Given the description of an element on the screen output the (x, y) to click on. 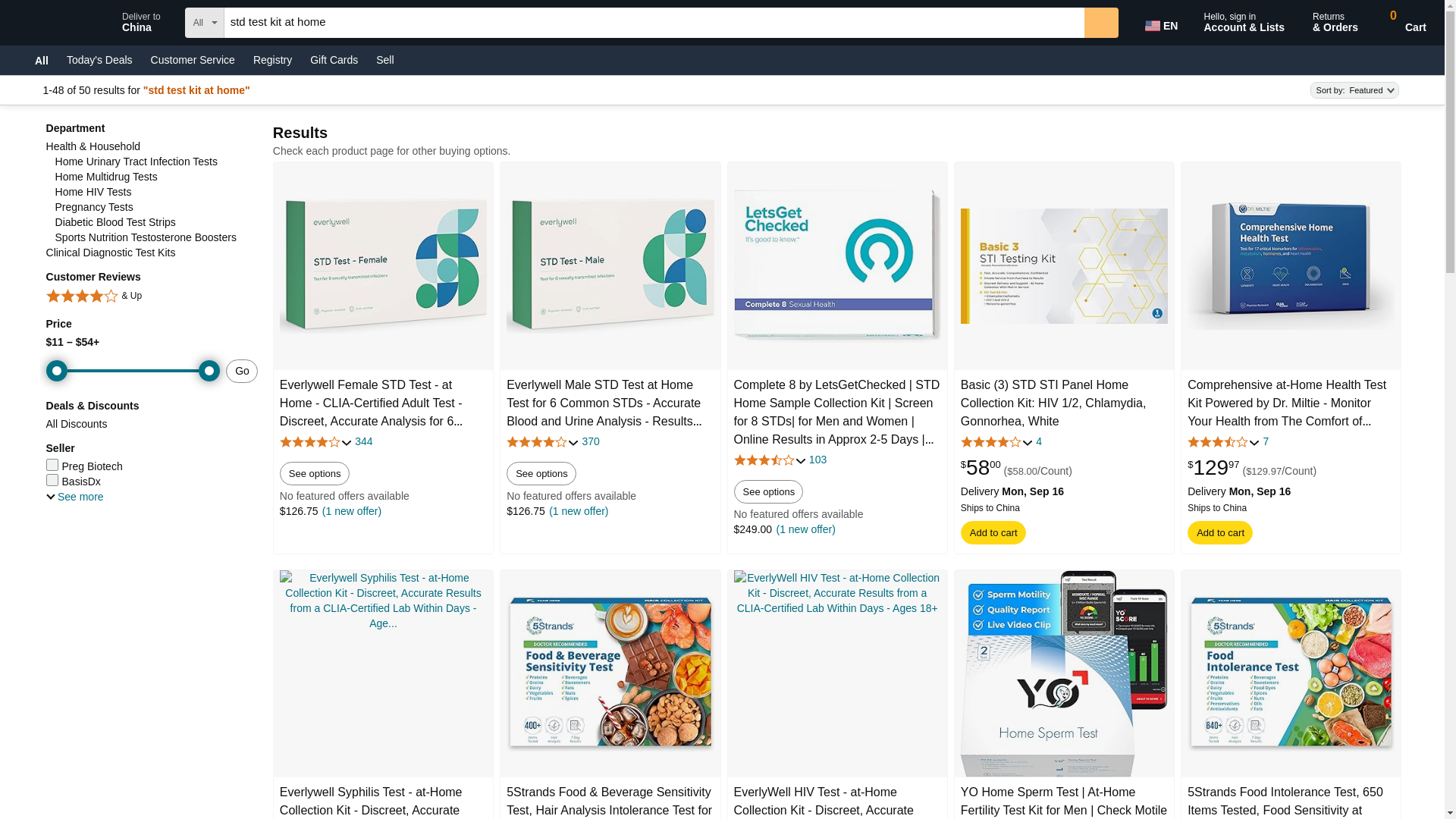
Registry (272, 59)
Skip to main content (60, 21)
Customer Service (192, 59)
344 (1401, 22)
EN (363, 441)
Go (1163, 22)
Go (1101, 22)
41 (1101, 22)
